Given the description of an element on the screen output the (x, y) to click on. 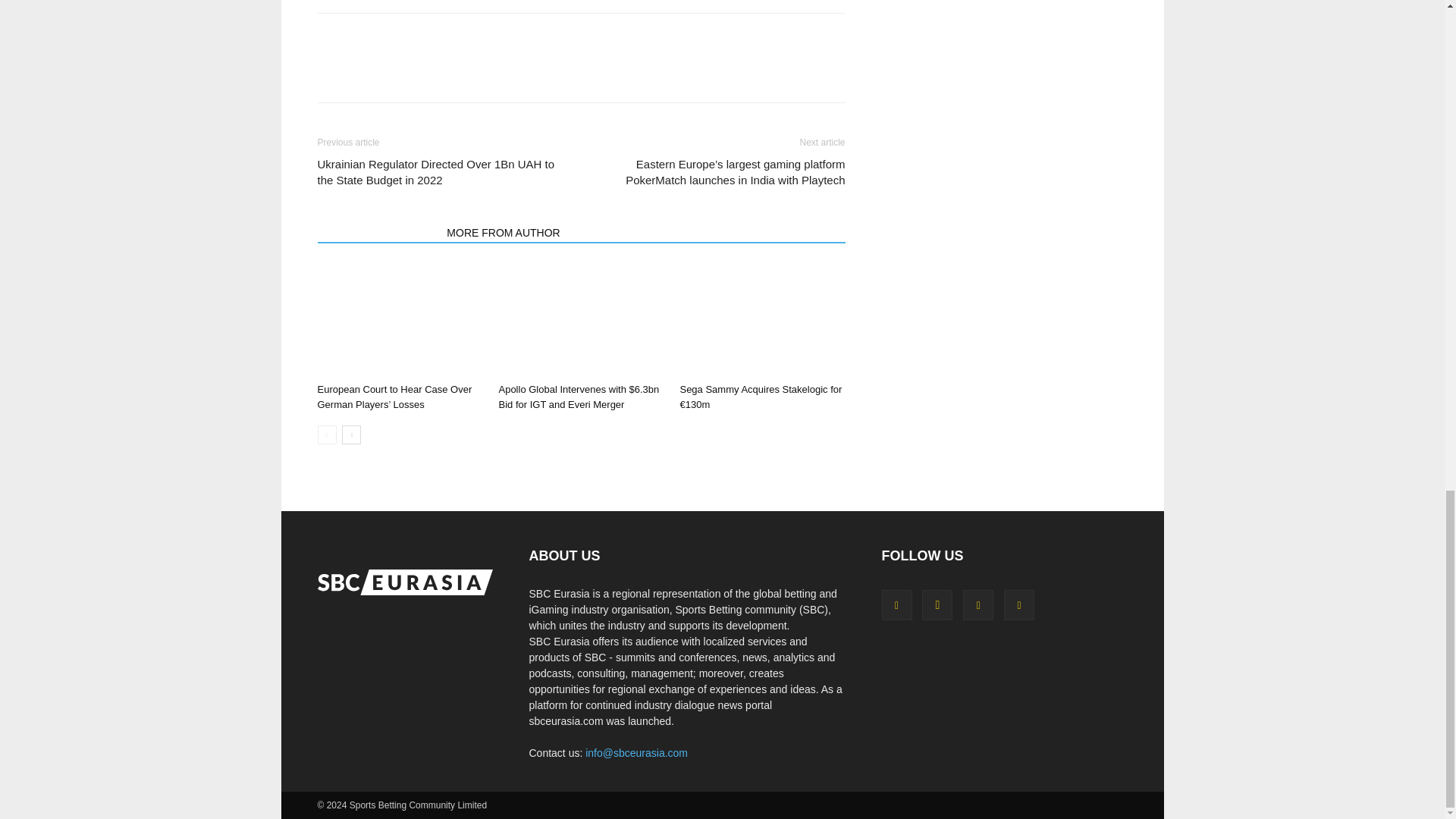
bottomFacebookLike (430, 37)
